Given the description of an element on the screen output the (x, y) to click on. 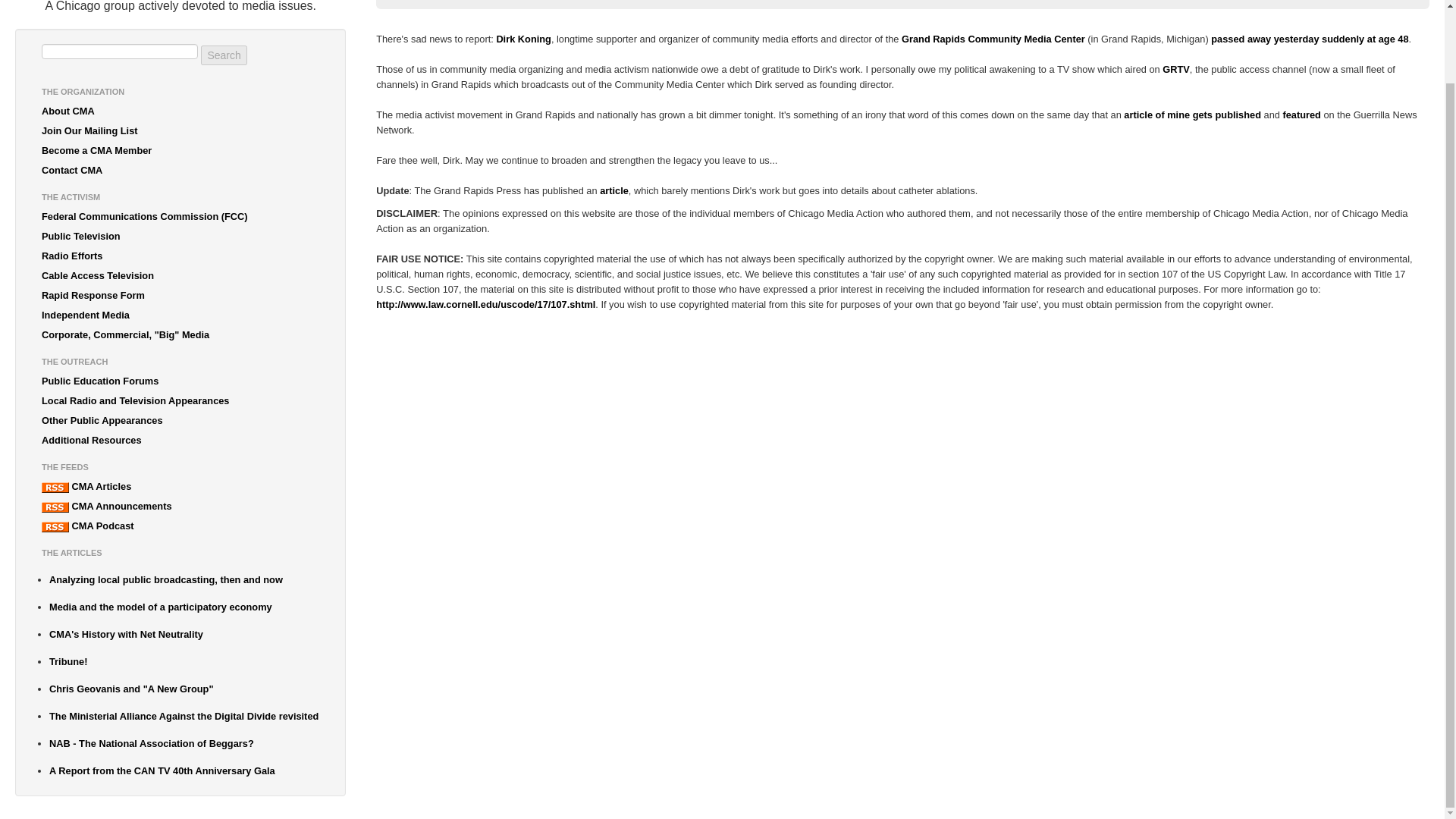
Analyzing local public broadcasting, then and now (183, 579)
Additional Resources (180, 440)
Become a CMA Member (180, 150)
CMA's History with Net Neutrality (183, 634)
Corporate, Commercial, "Big" Media (180, 334)
article (613, 190)
article of mine gets published (1192, 114)
GRTV (1175, 69)
CMA Announcements (180, 506)
About CMA (180, 111)
Contact CMA (180, 170)
Public Television (180, 236)
Grand Rapids Community Media Center (992, 39)
Tribune! (183, 661)
Rapid Response Form (180, 295)
